Given the description of an element on the screen output the (x, y) to click on. 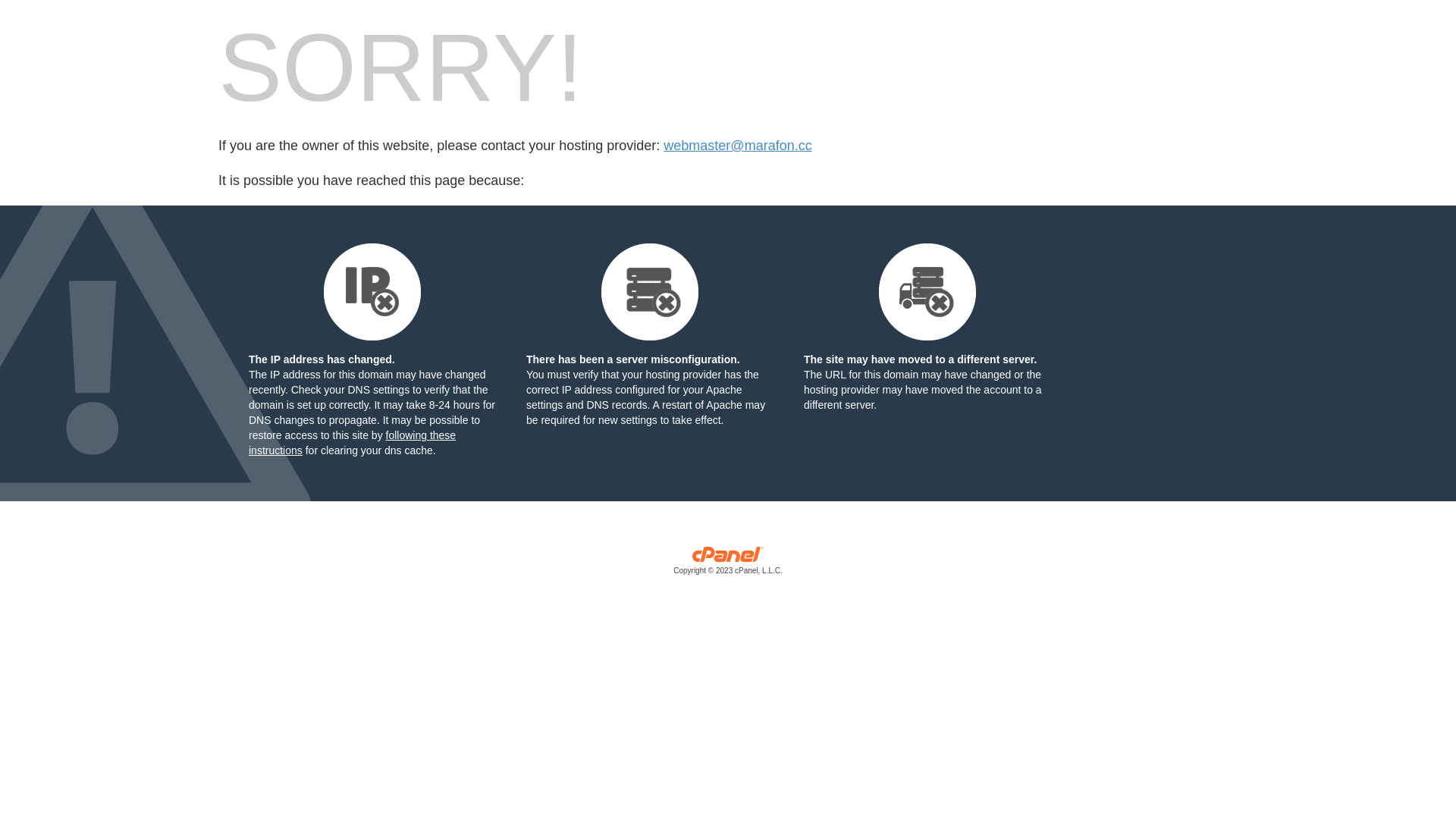
following these instructions Element type: text (351, 442)
webmaster@marafon.cc Element type: text (737, 145)
